Given the description of an element on the screen output the (x, y) to click on. 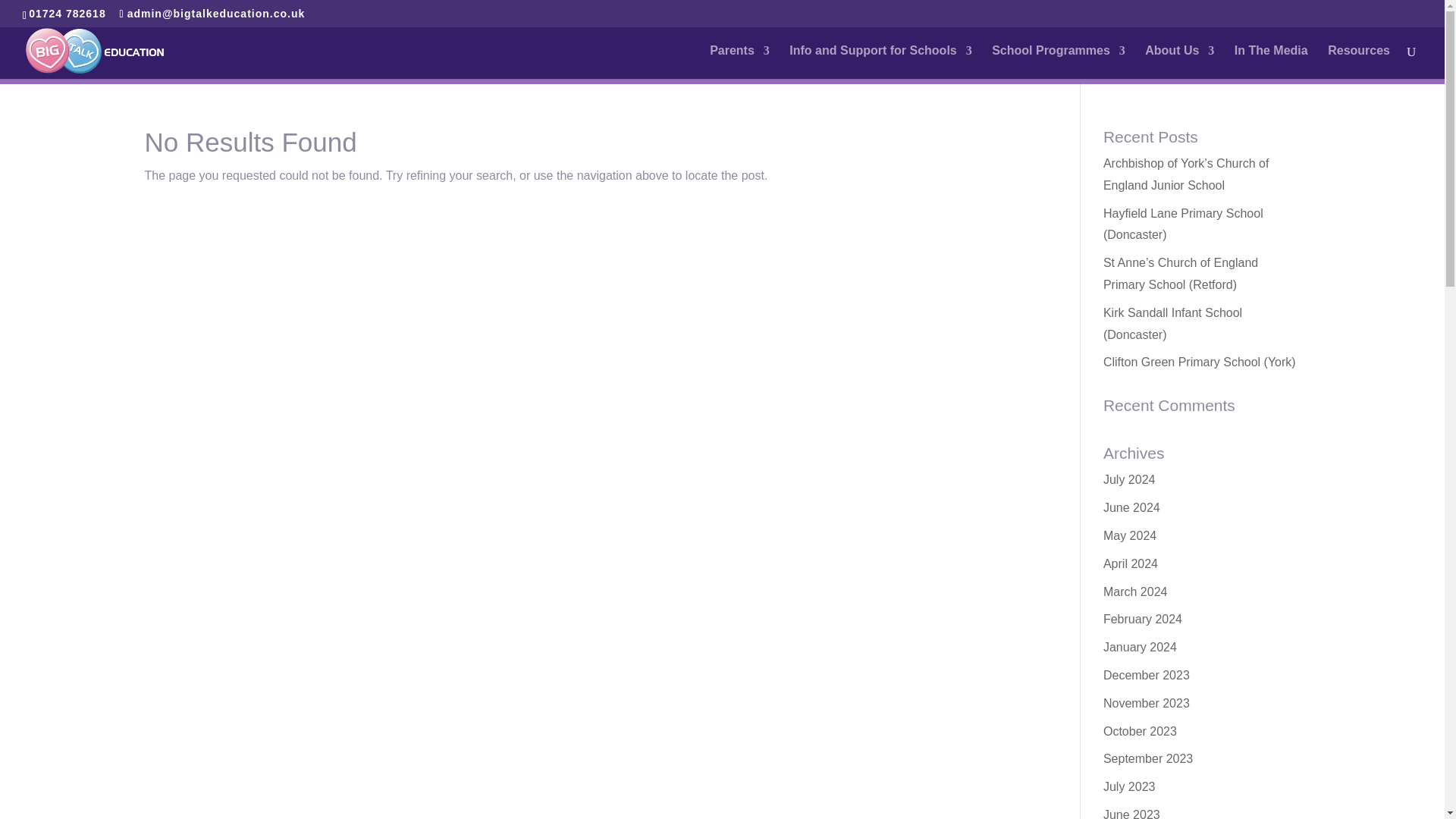
School Programmes (1058, 61)
Resources (1358, 61)
In The Media (1270, 61)
About Us (1179, 61)
Info and Support for Schools (880, 61)
Parents (740, 61)
